Given the description of an element on the screen output the (x, y) to click on. 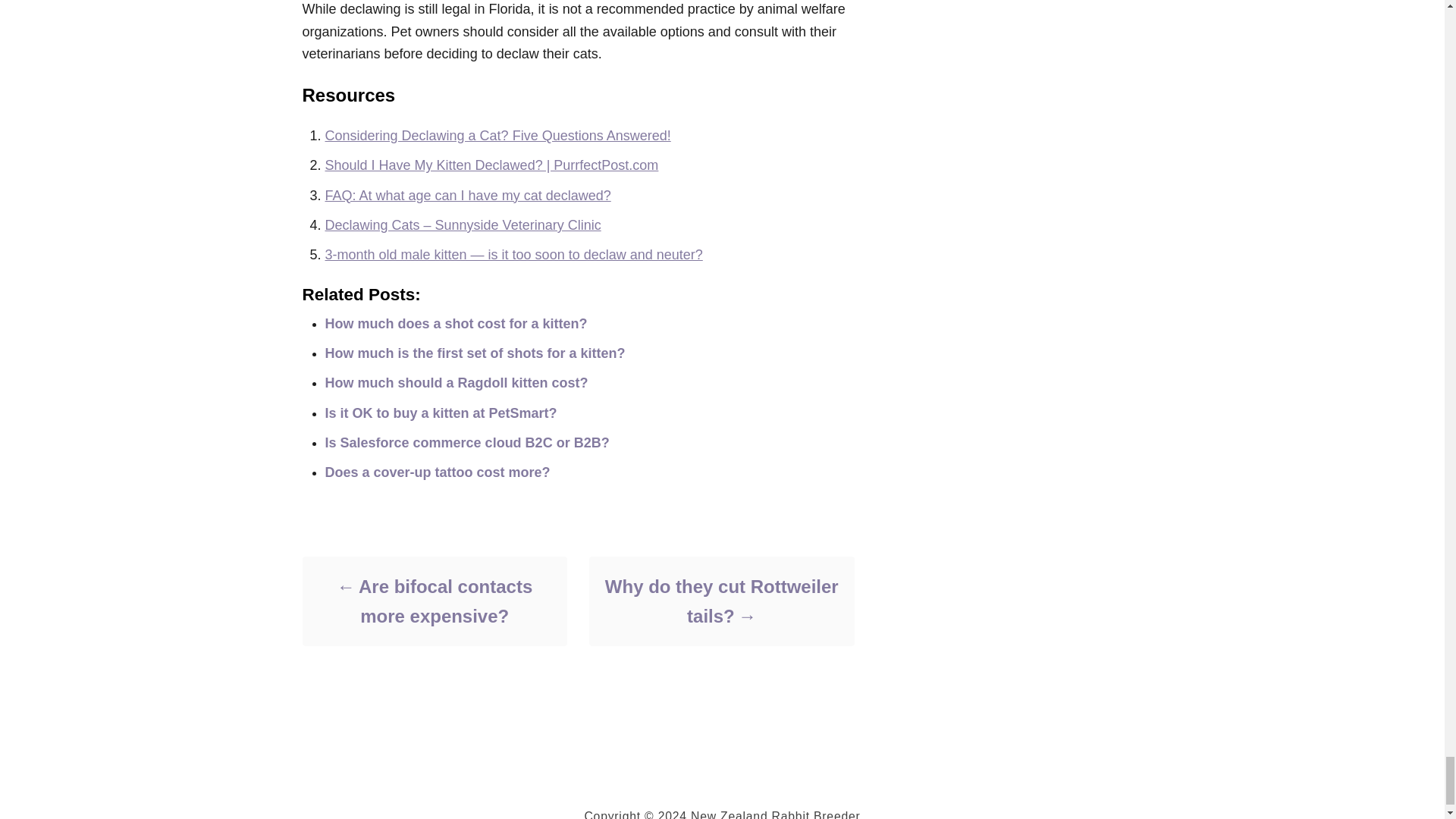
Considering Declawing a Cat? Five Questions Answered! (496, 135)
Is it OK to buy a kitten at PetSmart? (440, 412)
Does a cover-up tattoo cost more? (437, 472)
Are bifocal contacts more expensive? (434, 600)
How much does a shot cost for a kitten? (455, 323)
FAQ: At what age can I have my cat declawed? (467, 195)
Is Salesforce commerce cloud B2C or B2B? (466, 442)
How much should a Ragdoll kitten cost? (456, 382)
How much is the first set of shots for a kitten? (474, 353)
